Given the description of an element on the screen output the (x, y) to click on. 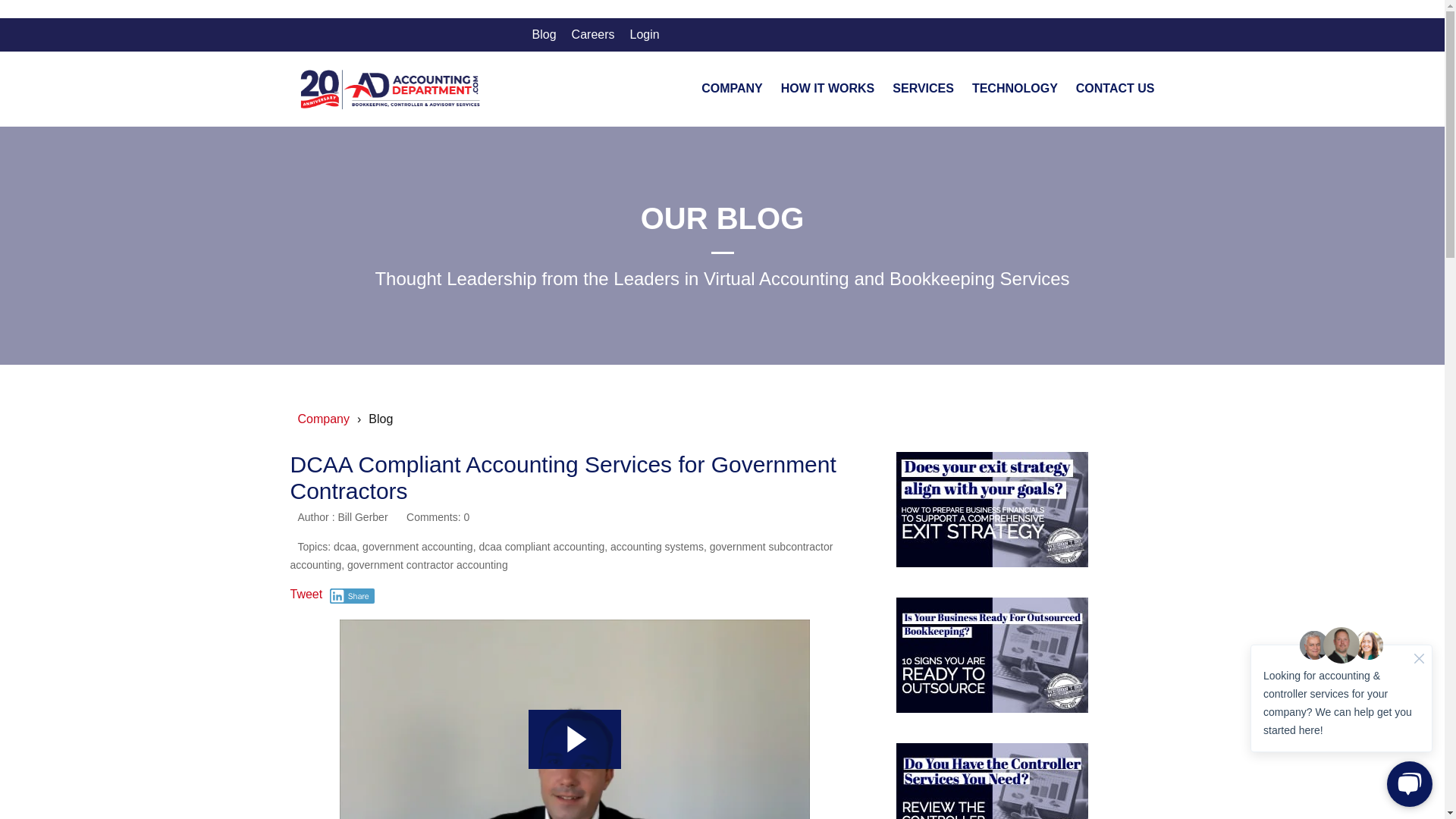
Login (643, 34)
COMPANY (731, 91)
Blog (544, 34)
SERVICES (922, 91)
web-20th-adc-logo (389, 89)
HOW IT WORKS (827, 91)
TECHNOLOGY (1015, 91)
Careers (593, 34)
